Given the description of an element on the screen output the (x, y) to click on. 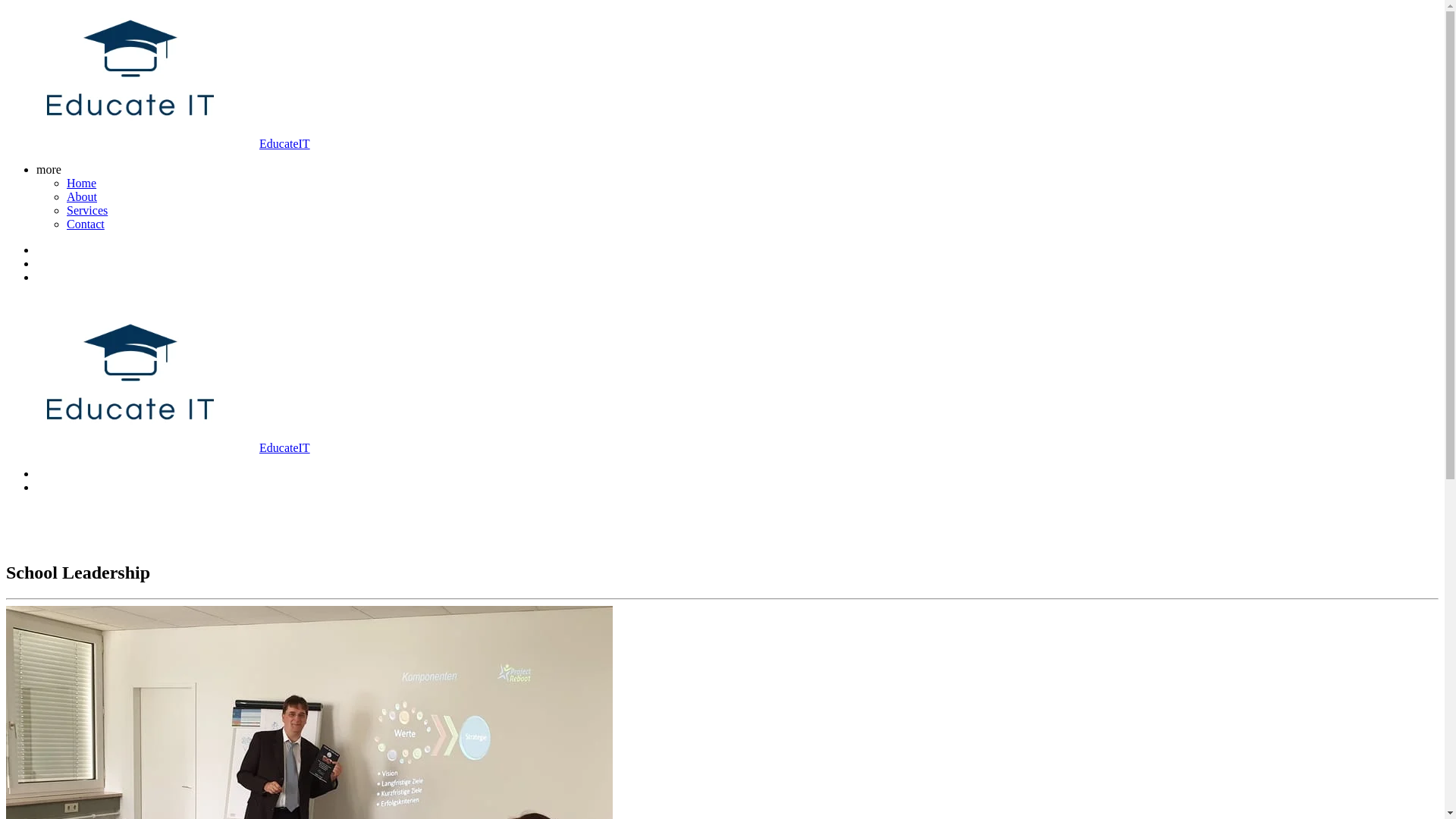
EducateIT Element type: text (158, 447)
  Element type: text (42, 276)
About Element type: text (81, 196)
Services Element type: text (86, 209)
  Element type: text (37, 263)
Home Element type: text (81, 182)
Contact Element type: text (85, 223)
  Element type: text (37, 249)
EducateIT Element type: text (158, 143)
more   Element type: text (51, 169)
  Element type: text (7, 302)
  Element type: text (37, 486)
  Element type: text (42, 473)
